Given the description of an element on the screen output the (x, y) to click on. 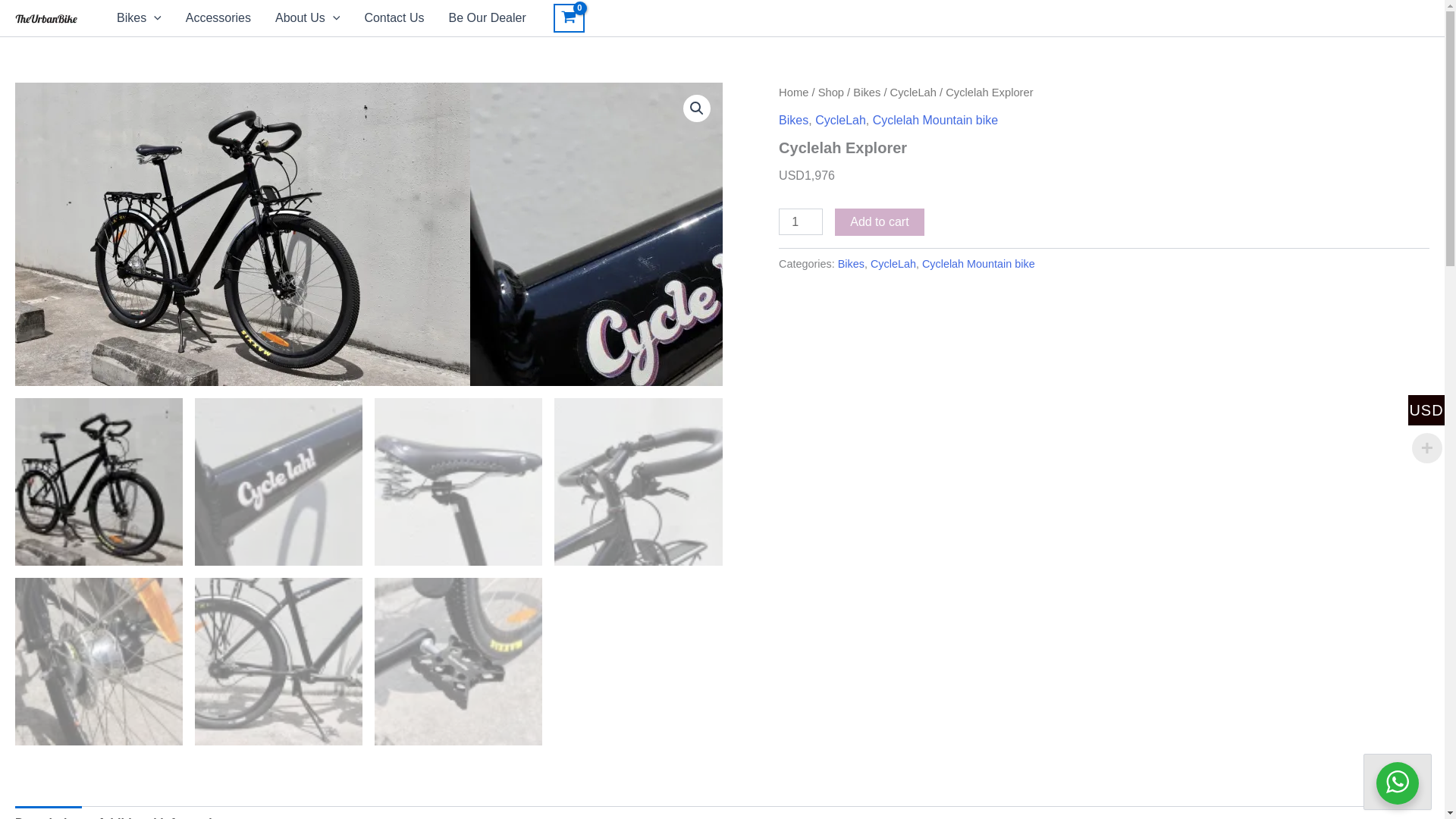
Contact Us (393, 17)
1 (800, 221)
Accessories (218, 17)
Be Our Dealer (487, 17)
About Us (307, 17)
Bikes (138, 17)
